Given the description of an element on the screen output the (x, y) to click on. 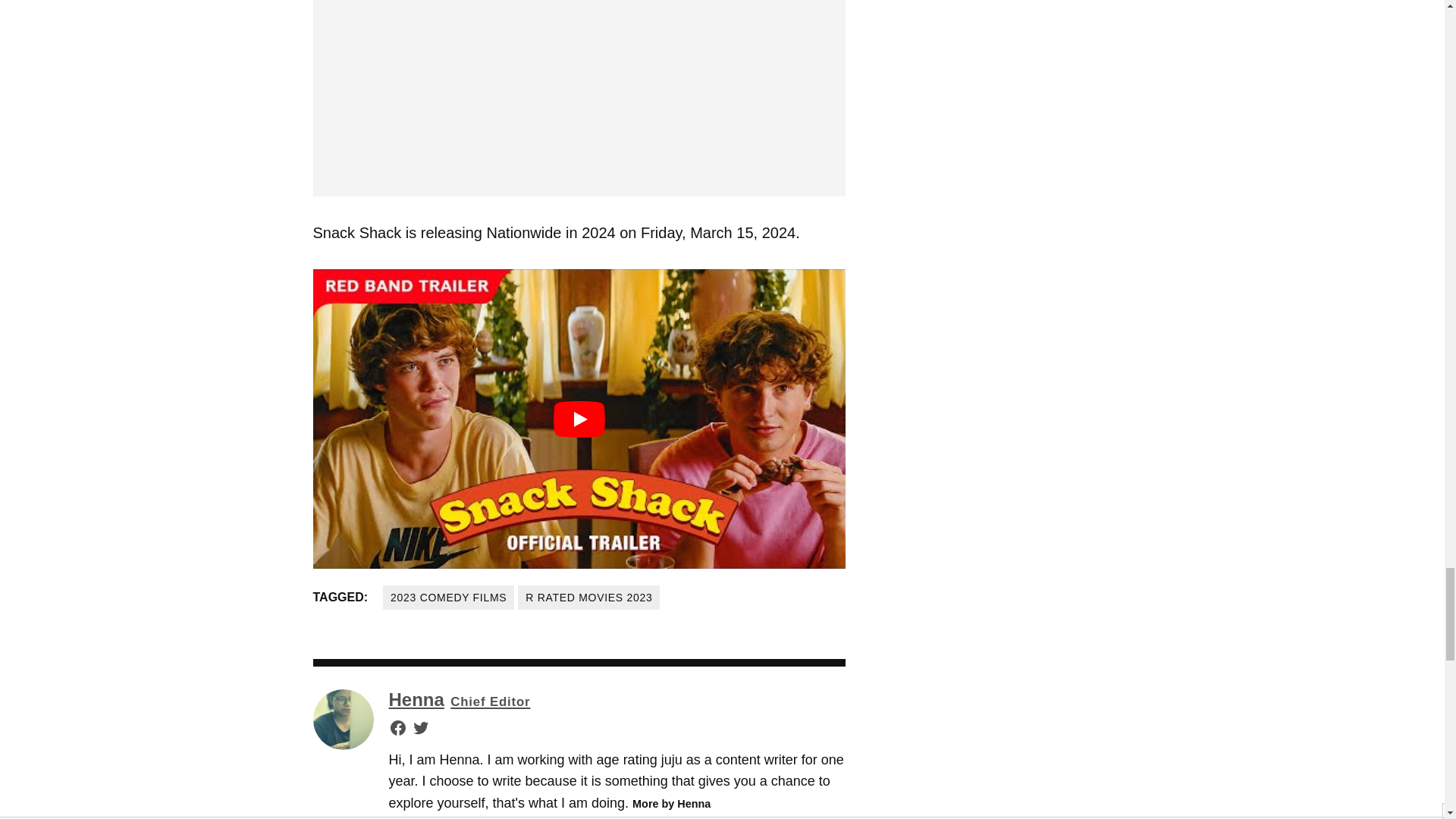
twitter (420, 728)
facebook (397, 728)
